Given the description of an element on the screen output the (x, y) to click on. 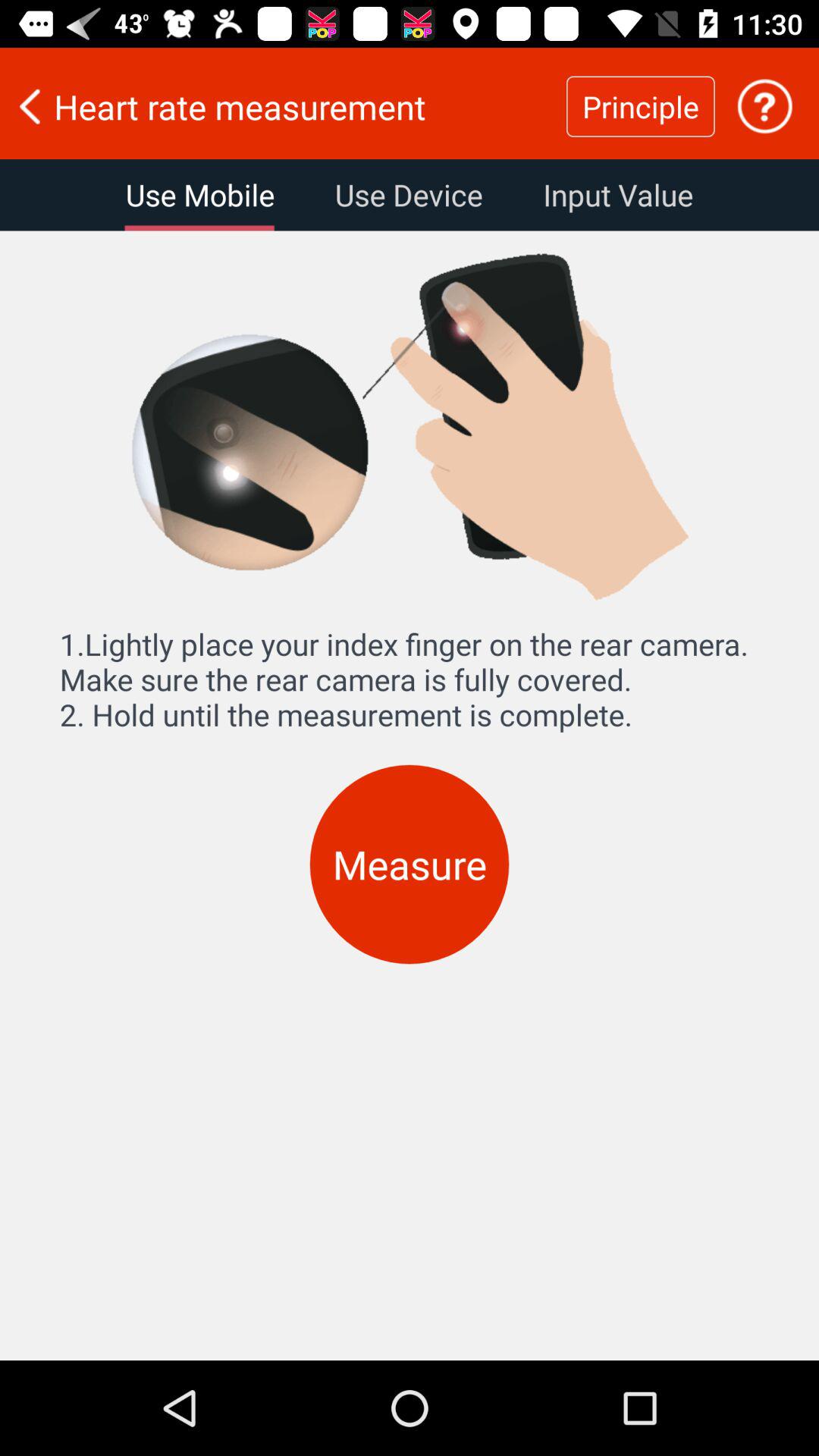
help/faq (764, 106)
